Given the description of an element on the screen output the (x, y) to click on. 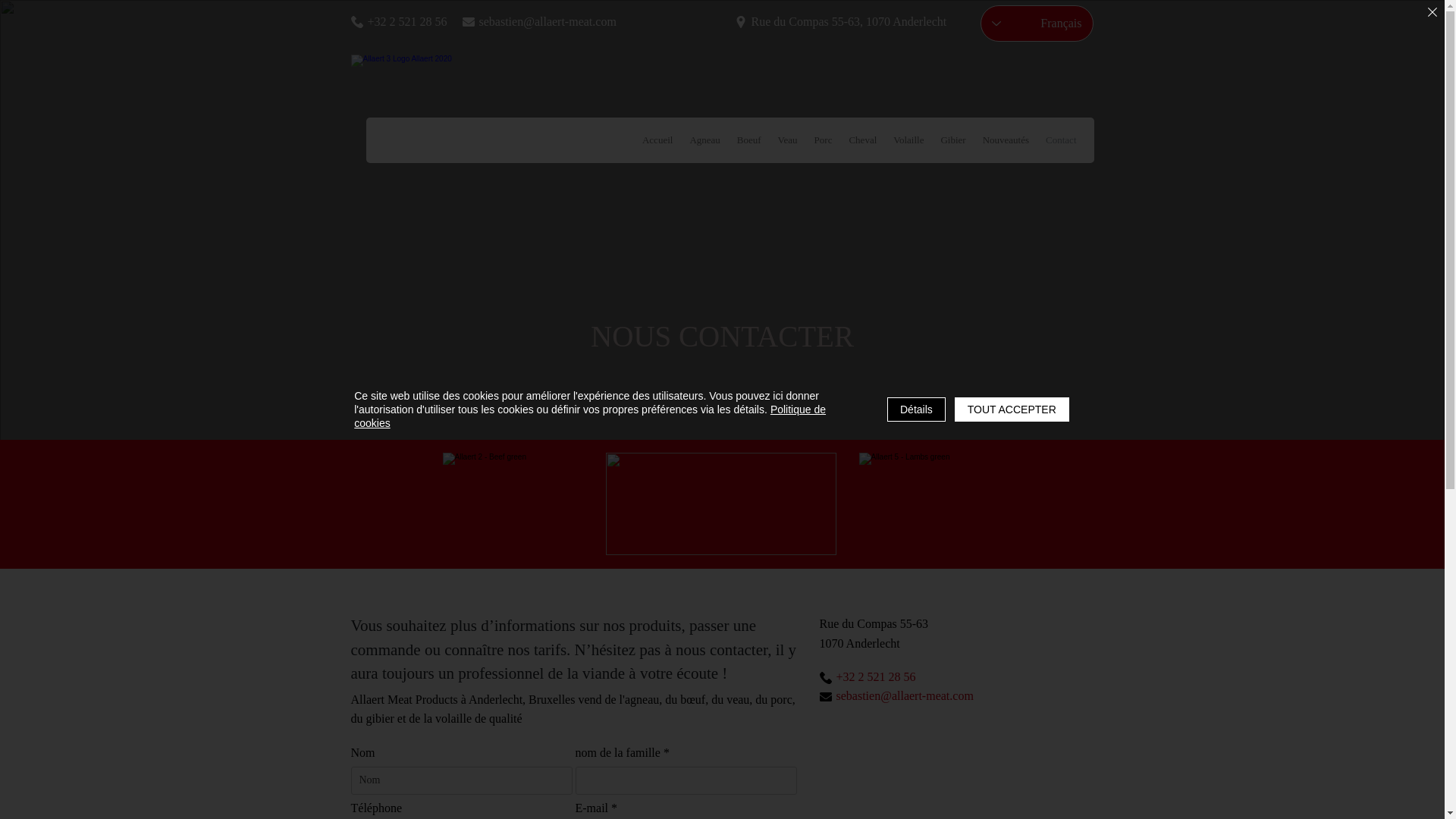
Veau Element type: text (787, 140)
Accueil Element type: text (657, 140)
Allaert 3 - Logo Allaert 2020 Element type: hover (435, 139)
+32 2 521 28 56 Element type: text (886, 677)
Gibier Element type: text (952, 140)
Politique de cookies Element type: text (589, 416)
Rue du Compas 55-63, 1070 Anderlecht Element type: text (850, 21)
Cheval Element type: text (862, 140)
+32 2 521 28 56 Element type: text (405, 21)
Contact Element type: text (1060, 140)
sebastien@allaert-meat.com Element type: text (956, 696)
Boeuf Element type: text (748, 140)
Agneau Element type: text (704, 140)
sebastien@allaert-meat.com Element type: text (555, 21)
TOUT ACCEPTER Element type: text (1011, 409)
Porc Element type: text (823, 140)
Volaille Element type: text (908, 140)
